Given the description of an element on the screen output the (x, y) to click on. 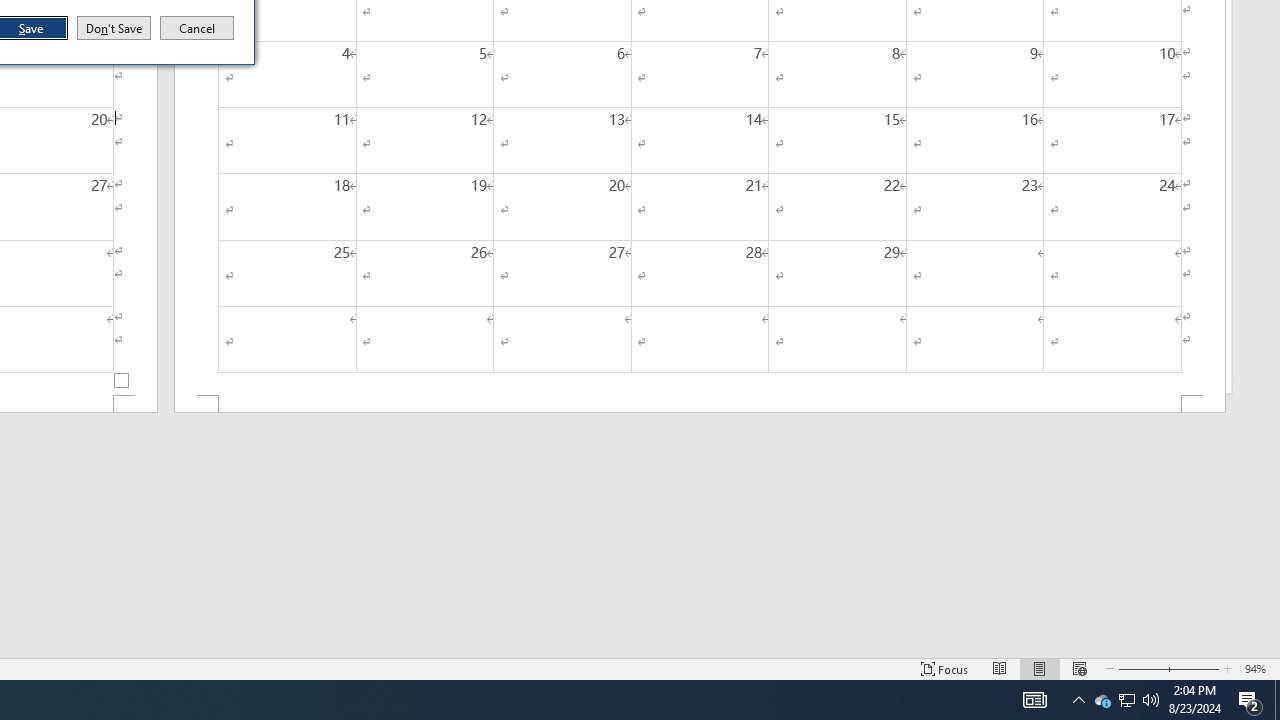
Don't Save (113, 27)
